Given the description of an element on the screen output the (x, y) to click on. 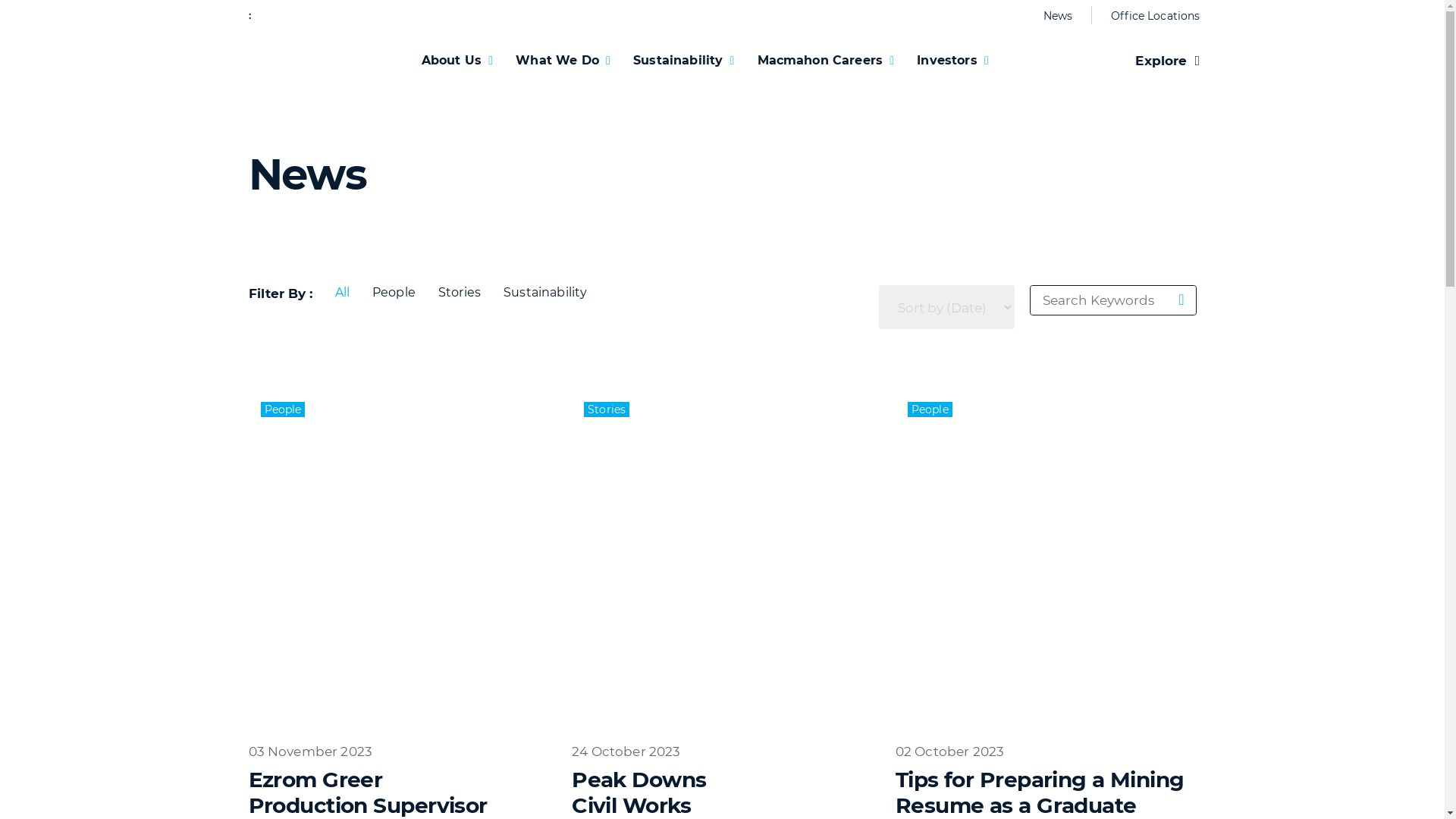
Sustainability Element type: text (683, 60)
About Us Element type: text (457, 60)
News Element type: text (1058, 15)
Stories Element type: text (459, 292)
Office Locations Element type: text (1149, 15)
Explore Element type: text (1167, 60)
People
03 November 2023
Ezrom Greer
Production Supervisor Element type: text (398, 603)
Stories
24 October 2023
Peak Downs
Civil Works Element type: text (721, 603)
What We Do Element type: text (562, 60)
Investors Element type: text (952, 60)
Macmahon Careers Element type: text (826, 60)
People Element type: text (393, 292)
Sustainability Element type: text (545, 292)
All Element type: text (341, 292)
